Given the description of an element on the screen output the (x, y) to click on. 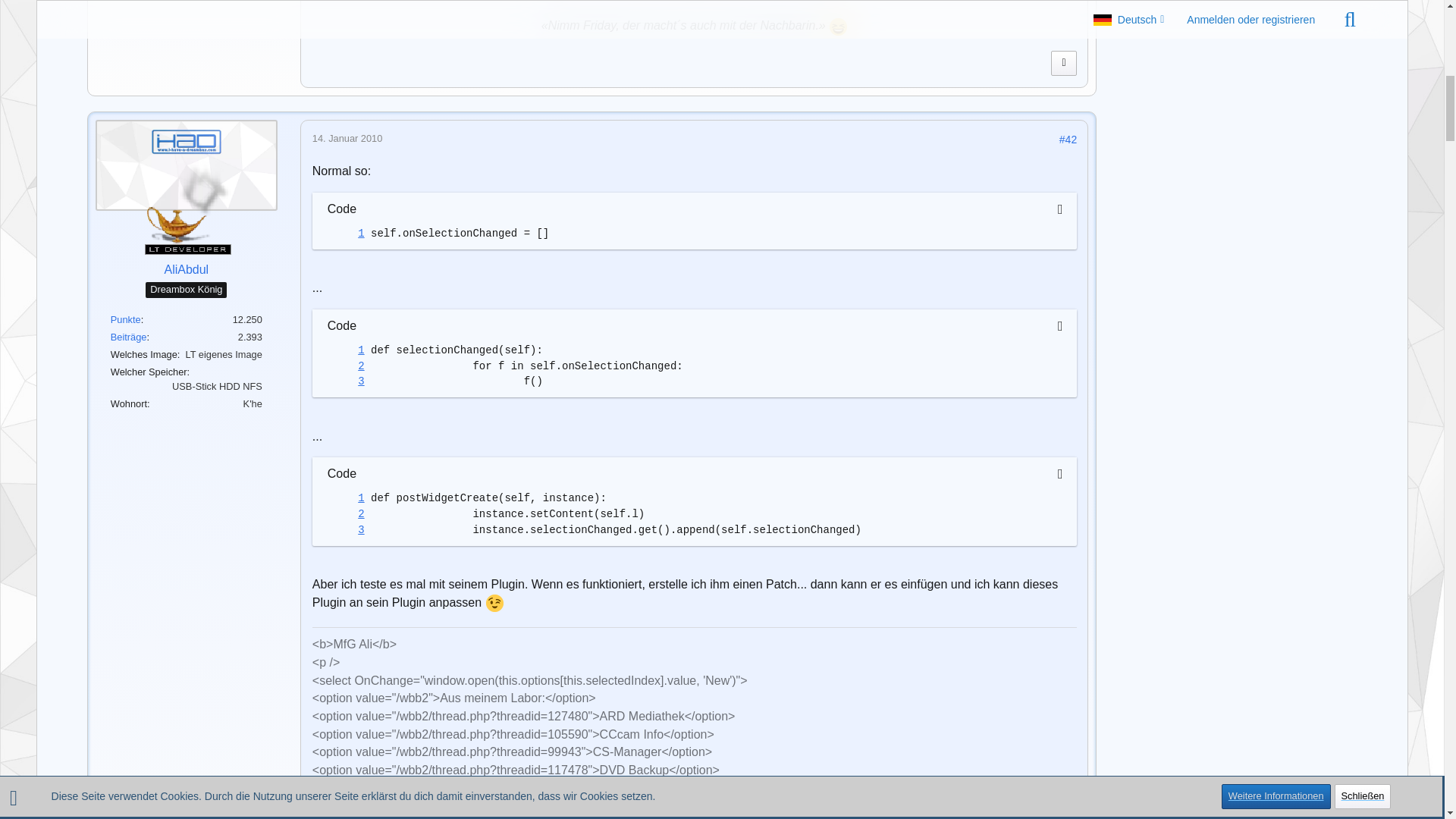
3 (345, 381)
1 (345, 498)
grinning squinting face (838, 27)
2 (345, 366)
1 (345, 233)
14. Januar 2010, 20:26 (347, 138)
1 (345, 350)
